Given the description of an element on the screen output the (x, y) to click on. 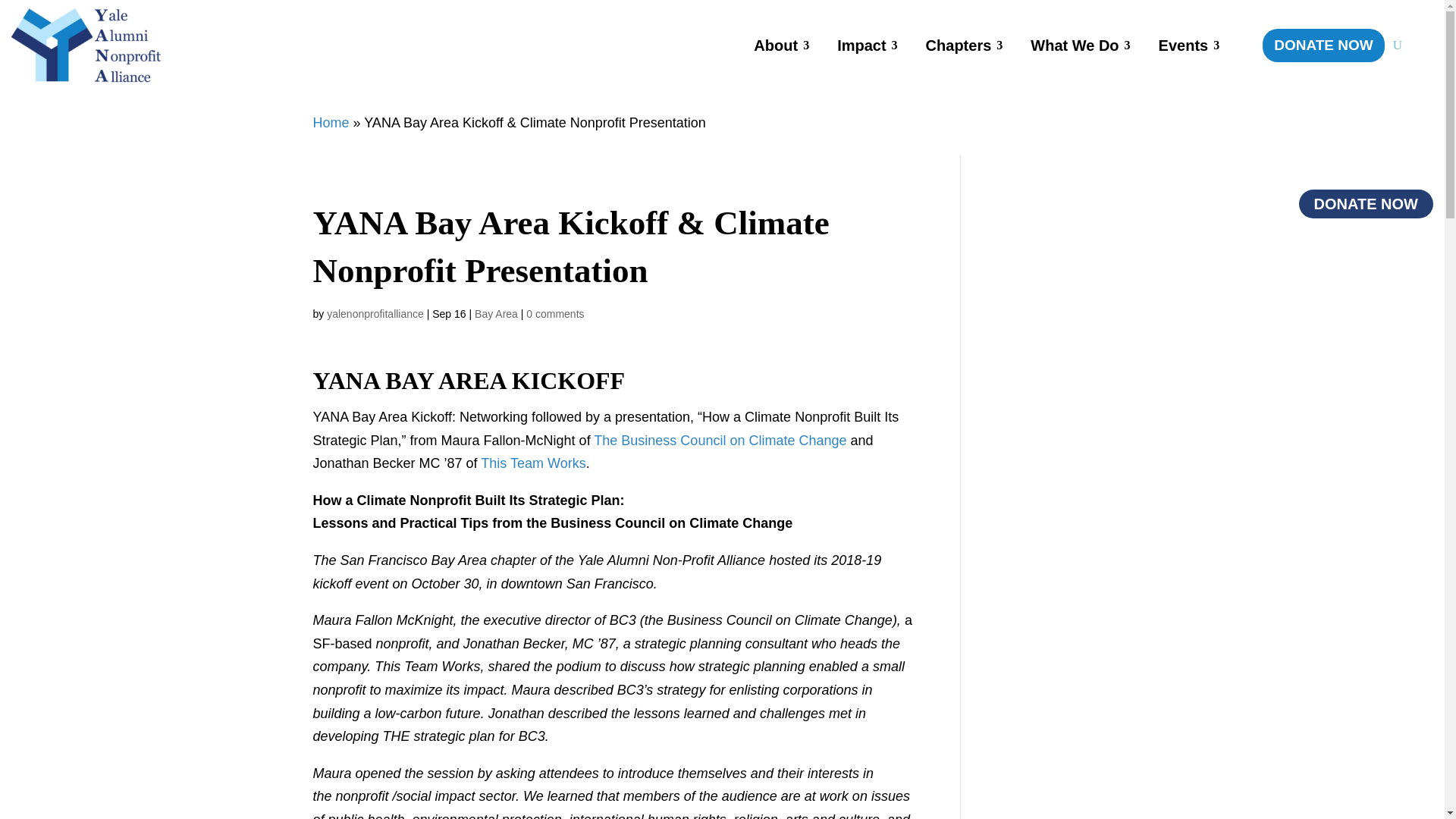
Chapters (958, 45)
What We Do (1074, 45)
Posts by yalenonprofitalliance (374, 313)
Impact (860, 45)
